Given the description of an element on the screen output the (x, y) to click on. 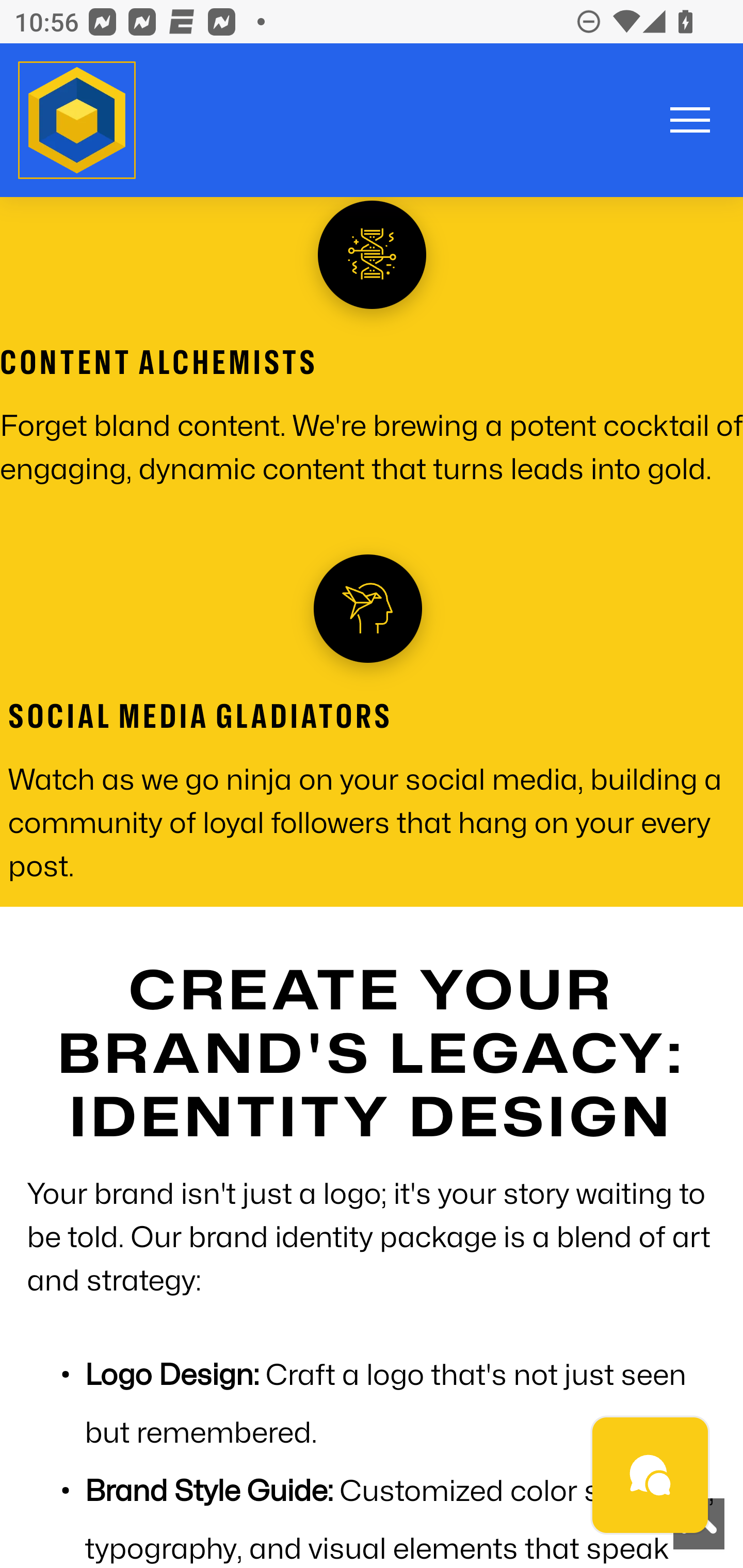
LUMI-ID-Avatar_Transparent-640w (77, 120)
menu opener (690, 119)
bubble-icon (650, 1476)
